Given the description of an element on the screen output the (x, y) to click on. 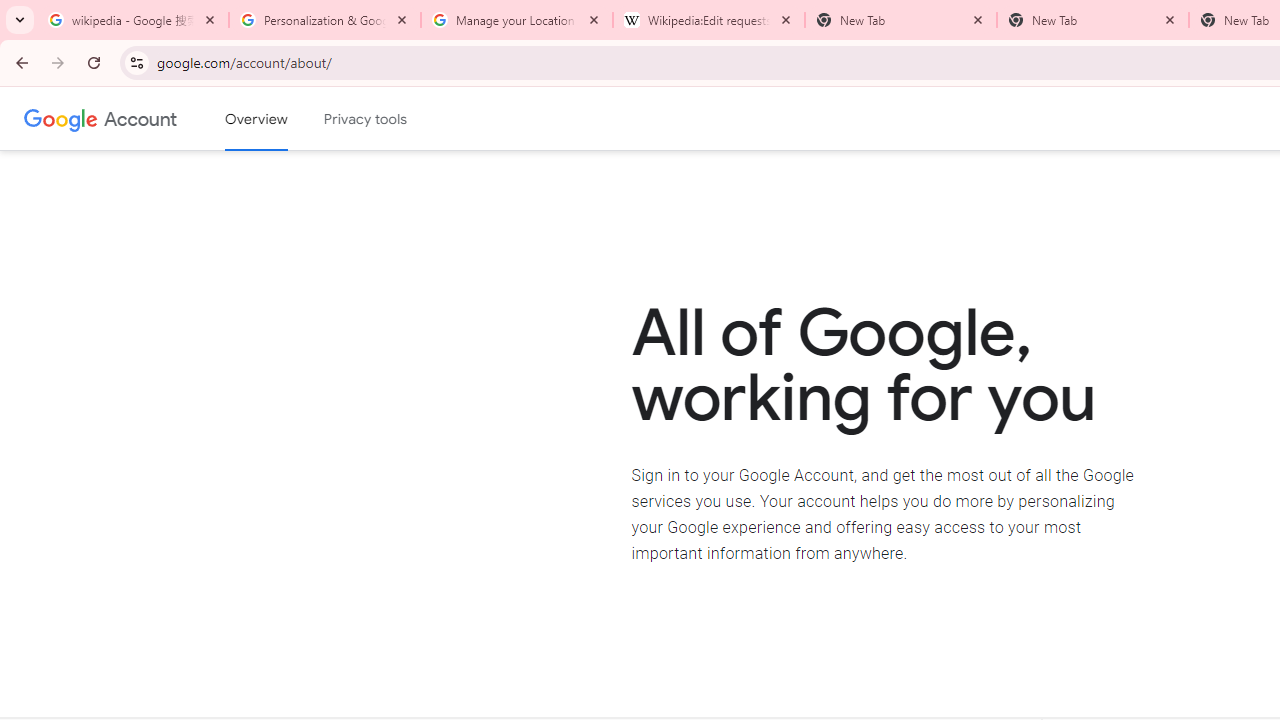
Skip to Content (285, 115)
New Tab (1093, 20)
Manage your Location History - Google Search Help (517, 20)
Privacy tools (365, 119)
Google Account overview (256, 119)
Google logo (61, 118)
Personalization & Google Search results - Google Search Help (325, 20)
